Given the description of an element on the screen output the (x, y) to click on. 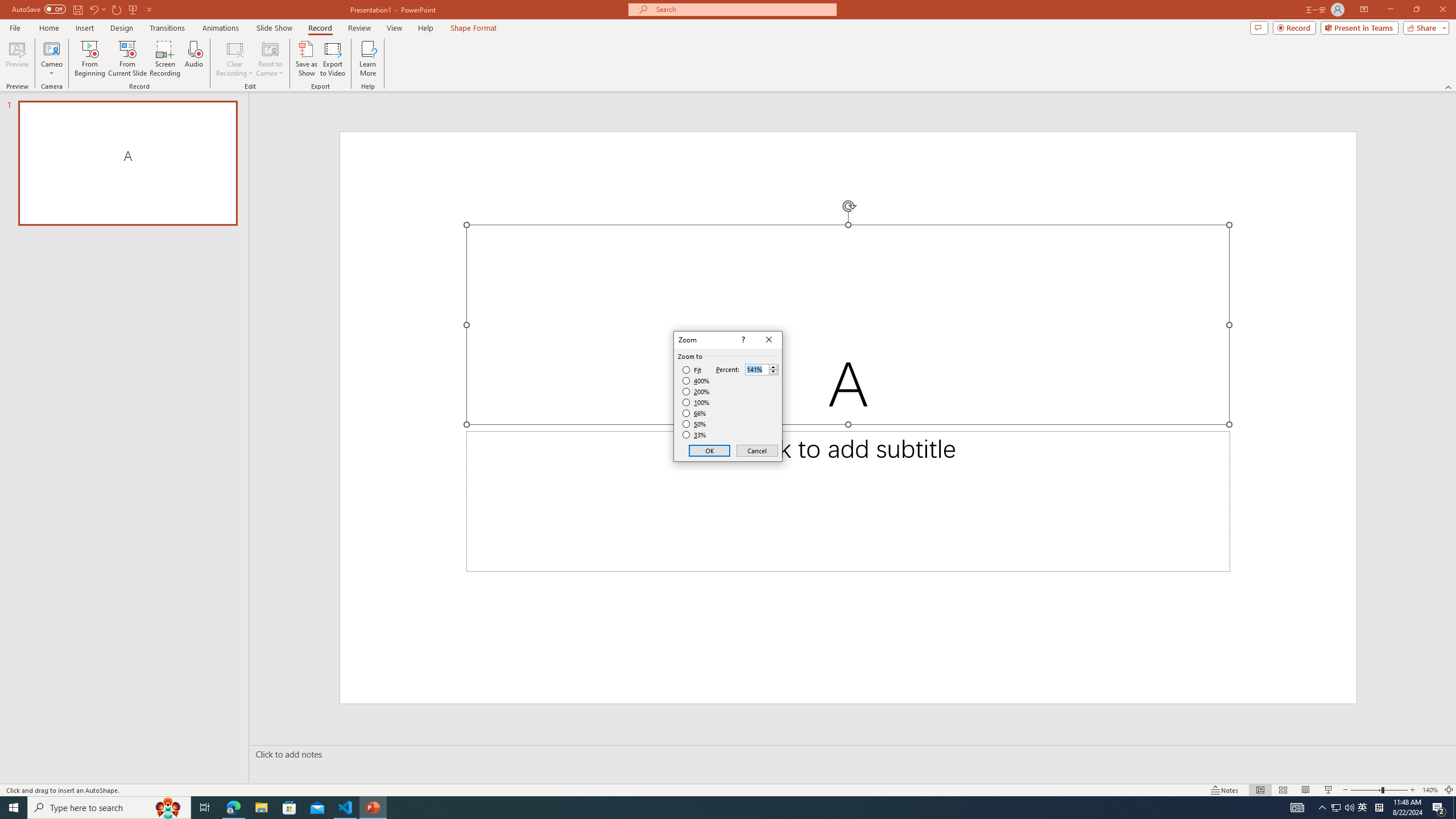
50% (694, 424)
